Given the description of an element on the screen output the (x, y) to click on. 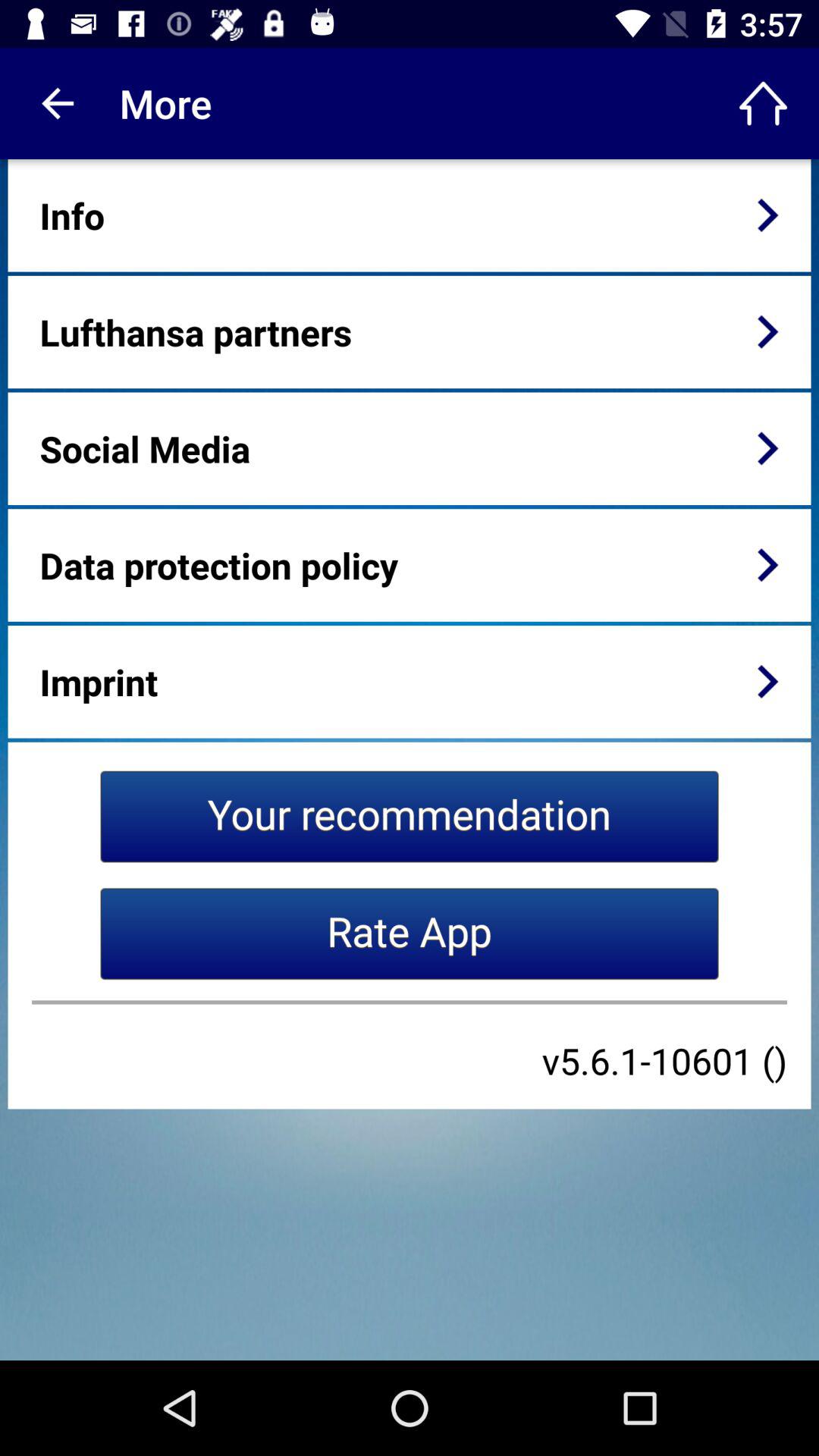
choose the rate app (409, 933)
